Given the description of an element on the screen output the (x, y) to click on. 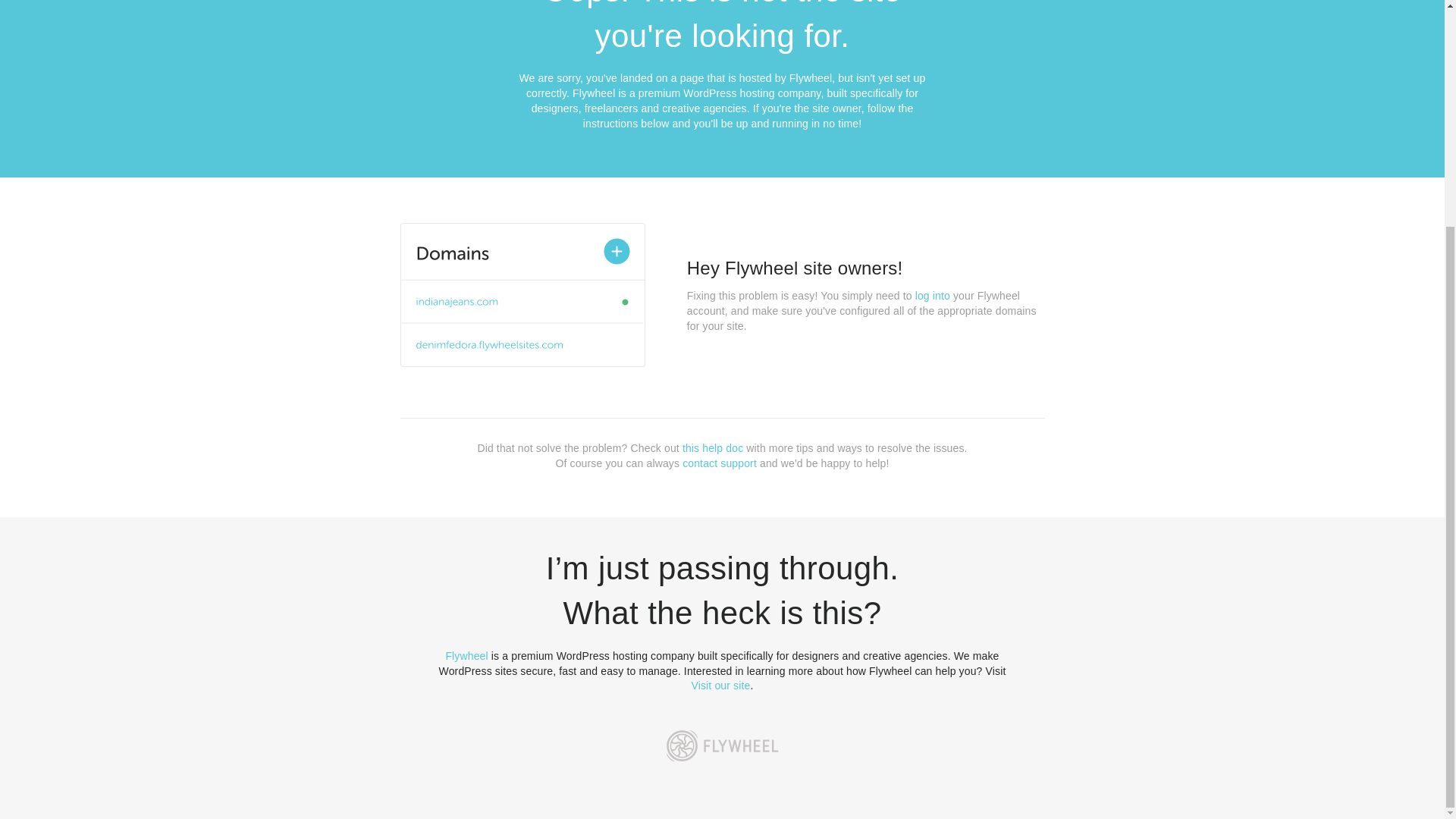
log into (932, 295)
this help doc (712, 448)
Flywheel (466, 655)
Visit our site (721, 685)
contact support (719, 463)
